Given the description of an element on the screen output the (x, y) to click on. 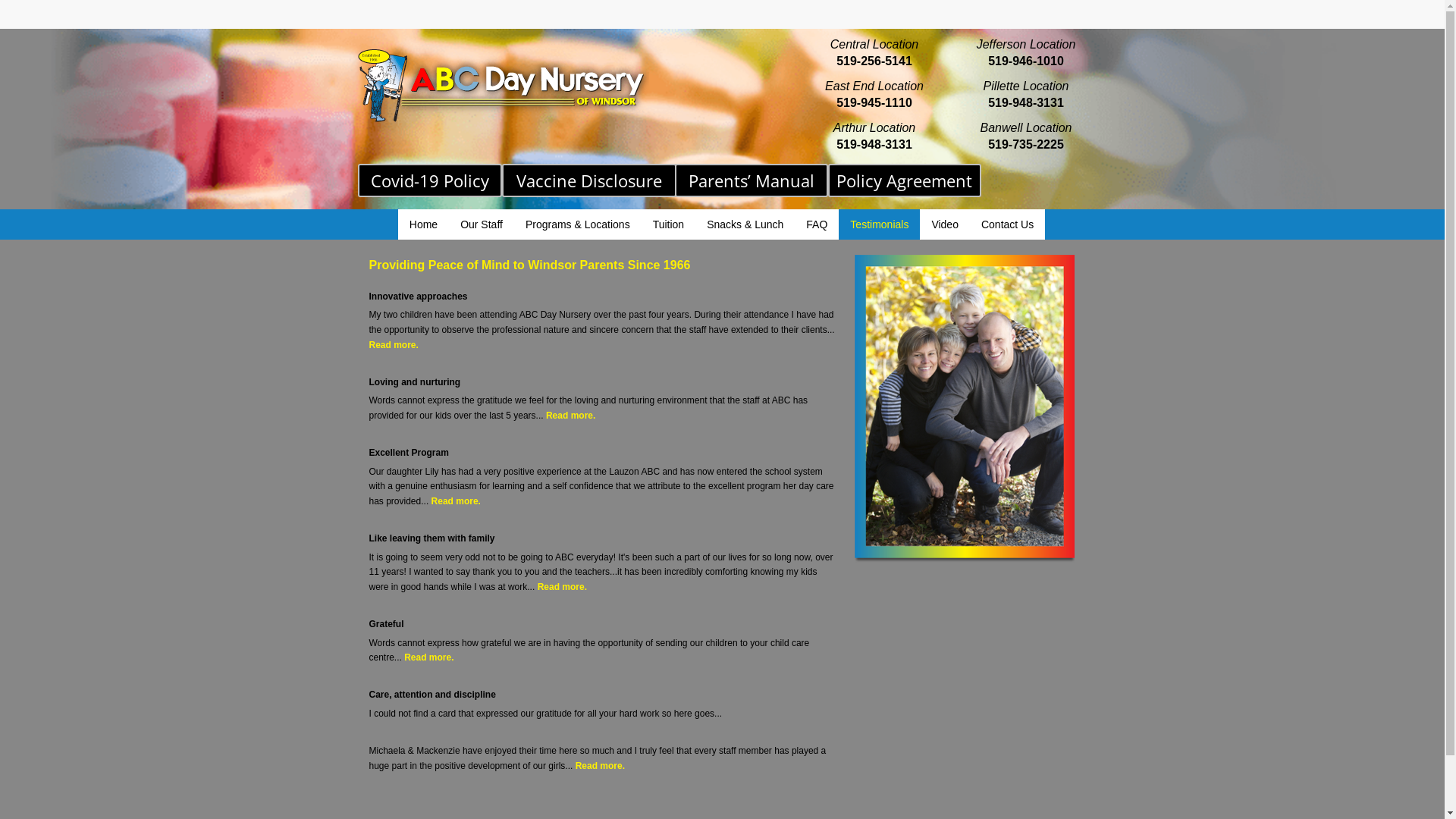
Tuition Element type: text (668, 224)
519-946-1010 Element type: text (1025, 60)
Embedded Content Element type: hover (943, 22)
Read more. Element type: text (561, 586)
519-256-5141 Element type: text (874, 60)
Testimonials Element type: text (878, 224)
Read more. Element type: text (428, 657)
Vaccine Disclosure Element type: text (589, 180)
519-735-2225 Element type: text (1025, 144)
FAQ Element type: text (816, 224)
519-948-3131 Element type: text (874, 144)
Embedded Content Element type: hover (1069, 17)
Our Staff Element type: text (481, 224)
519-948-3131 Element type: text (1025, 102)
Covid-19 Policy Element type: text (429, 180)
Programs & Locations Element type: text (577, 224)
Read more. Element type: text (392, 344)
Read more. Element type: text (455, 500)
Read more. Element type: text (570, 415)
Read more. Element type: text (599, 765)
Snacks & Lunch Element type: text (744, 224)
Video Element type: text (944, 224)
Contact Us Element type: text (1006, 224)
Policy Agreement Element type: text (904, 180)
519-945-1110 Element type: text (874, 102)
Home Element type: text (423, 224)
